Given the description of an element on the screen output the (x, y) to click on. 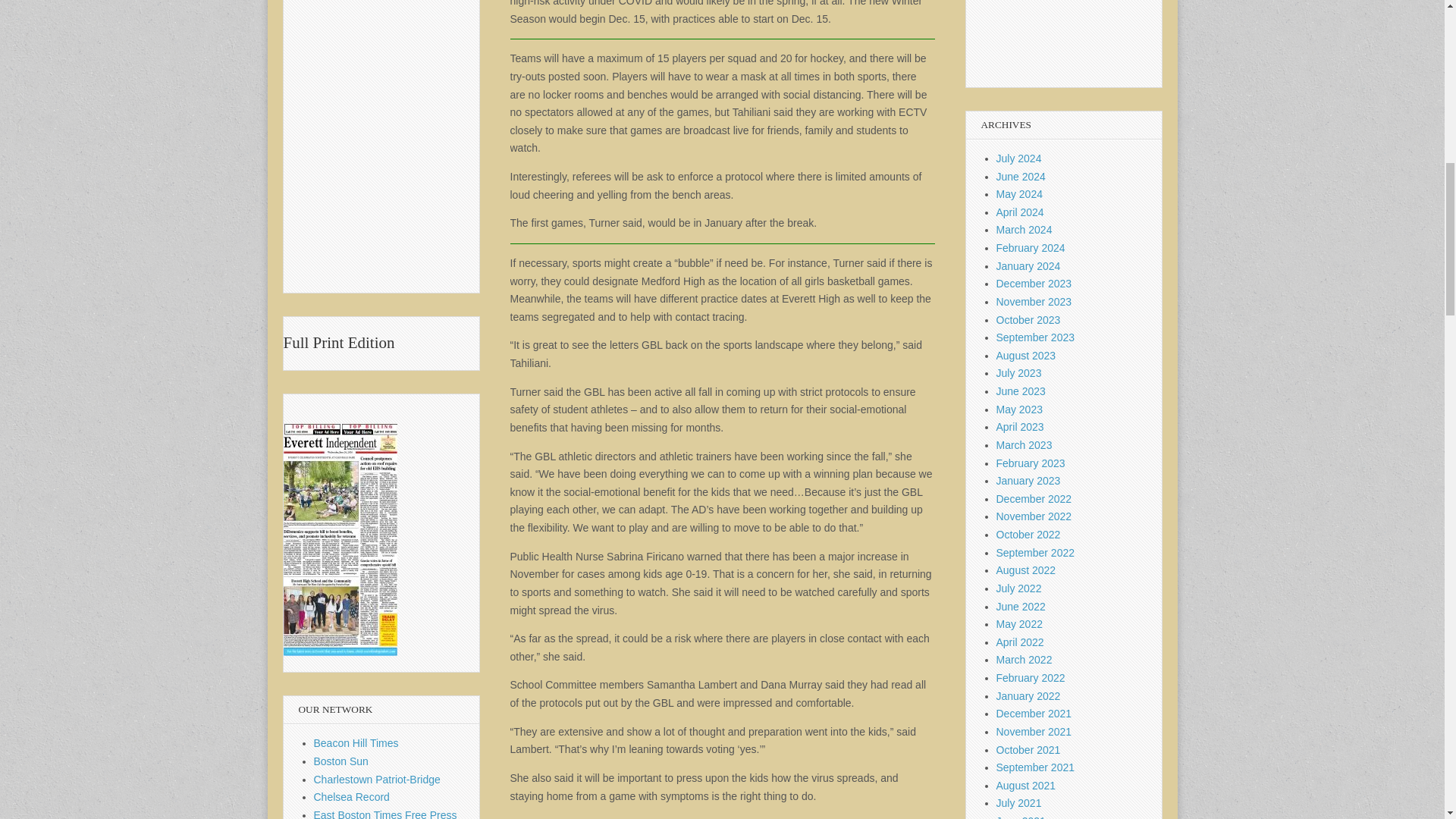
Chelsea Record (352, 797)
Boston Sun (341, 761)
East Boston Times Free Press (385, 814)
Beacon Hill Times (356, 743)
Charlestown Patriot-Bridge (377, 779)
